Given the description of an element on the screen output the (x, y) to click on. 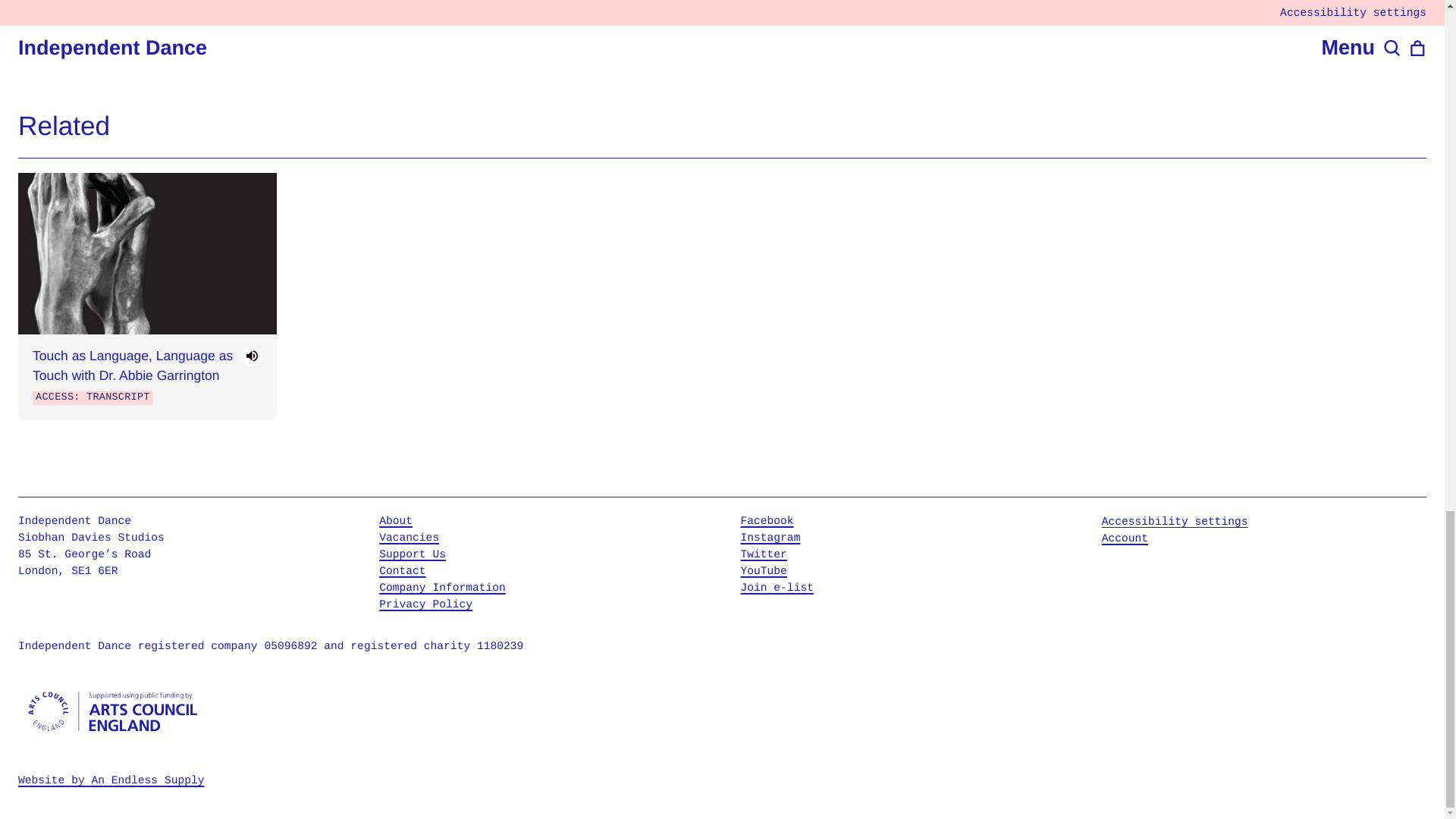
View all entries tagged with Listen (455, 41)
View all entries tagged with 2016 (516, 41)
